Given the description of an element on the screen output the (x, y) to click on. 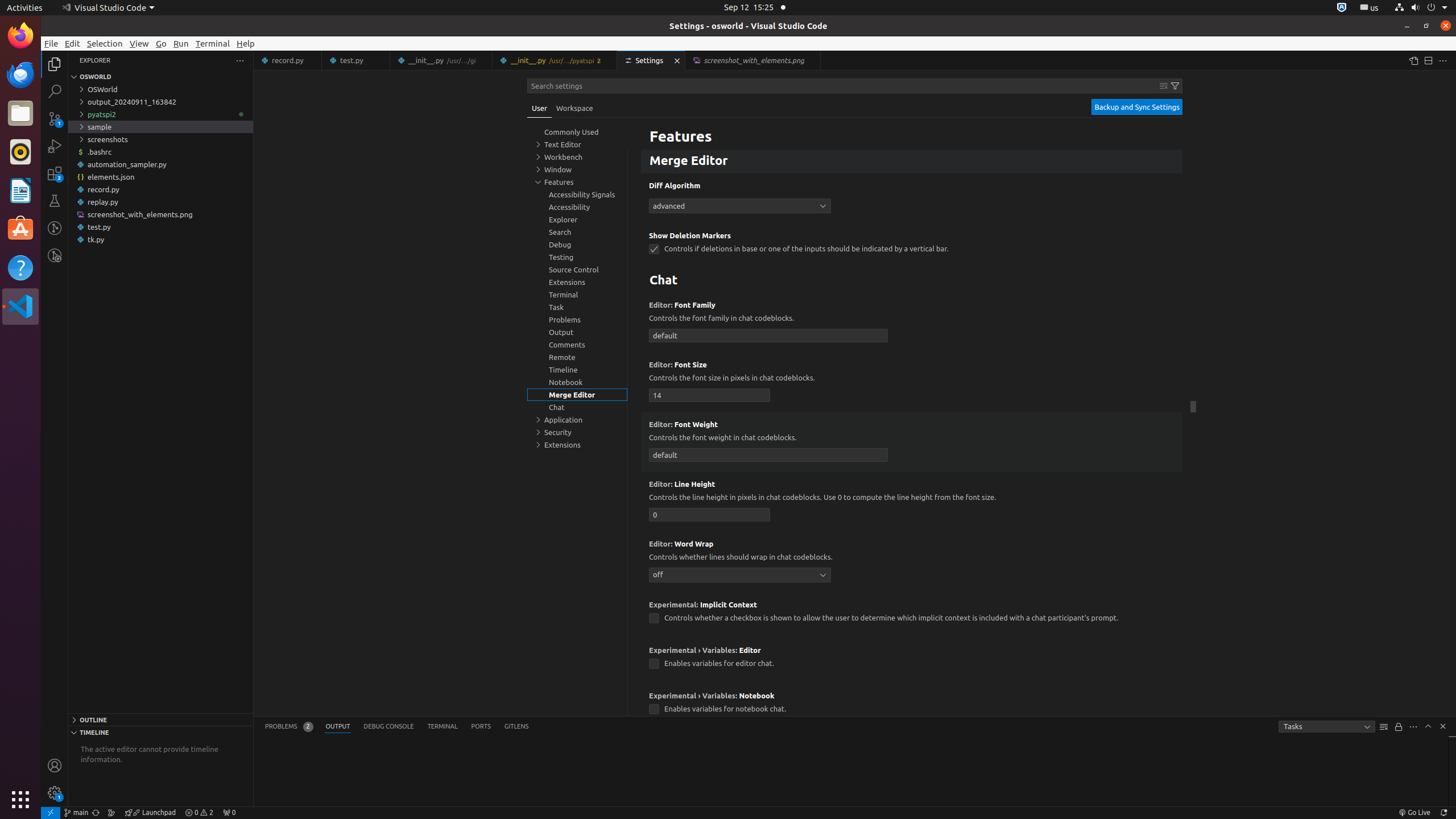
Commonly Used, group Element type: tree-item (577, 131)
mergeEditor.showDeletionMarkers Element type: check-box (653, 248)
Comments, group Element type: tree-item (577, 344)
remote Element type: push-button (50, 812)
Debug Console (Ctrl+Shift+Y) Element type: page-tab (388, 726)
